Given the description of an element on the screen output the (x, y) to click on. 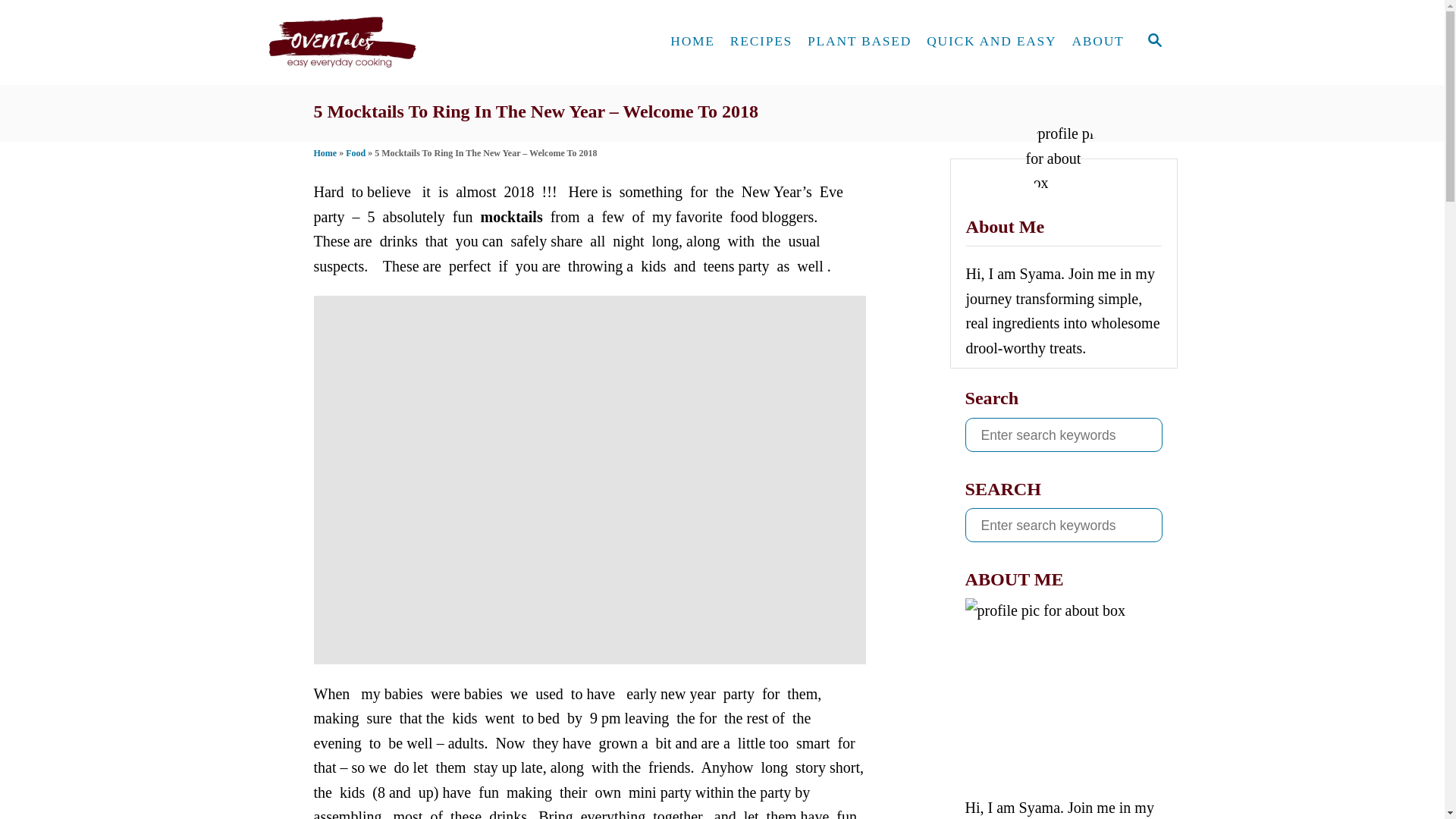
HOME (692, 41)
OVENTales (403, 41)
PLANT BASED (858, 41)
ABOUT (1097, 41)
QUICK AND EASY (991, 41)
Home (325, 153)
RECIPES (760, 41)
SEARCH (1153, 40)
Search for: (1062, 434)
Food (355, 153)
